Given the description of an element on the screen output the (x, y) to click on. 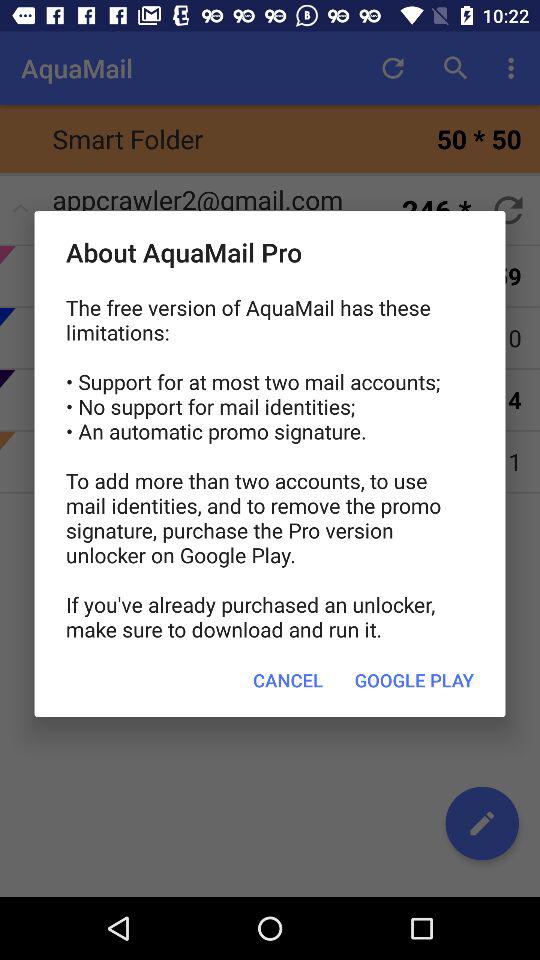
turn off icon at the bottom right corner (413, 679)
